Given the description of an element on the screen output the (x, y) to click on. 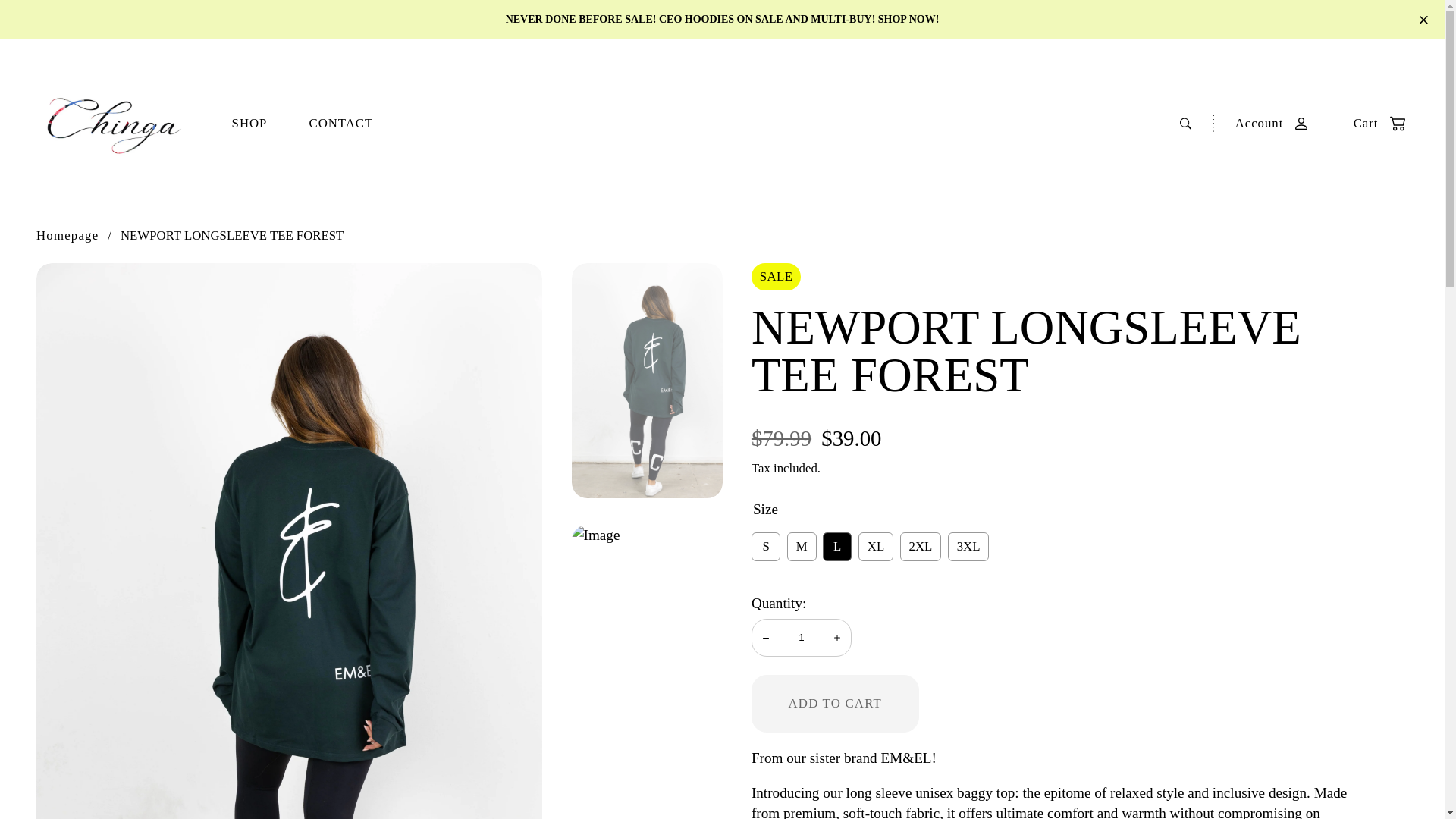
3XL (968, 546)
SKIP TO CONTENT (79, 29)
Sign in (1264, 123)
M (801, 546)
2XL (920, 546)
SHOP NOW! (908, 19)
XL (876, 546)
